Given the description of an element on the screen output the (x, y) to click on. 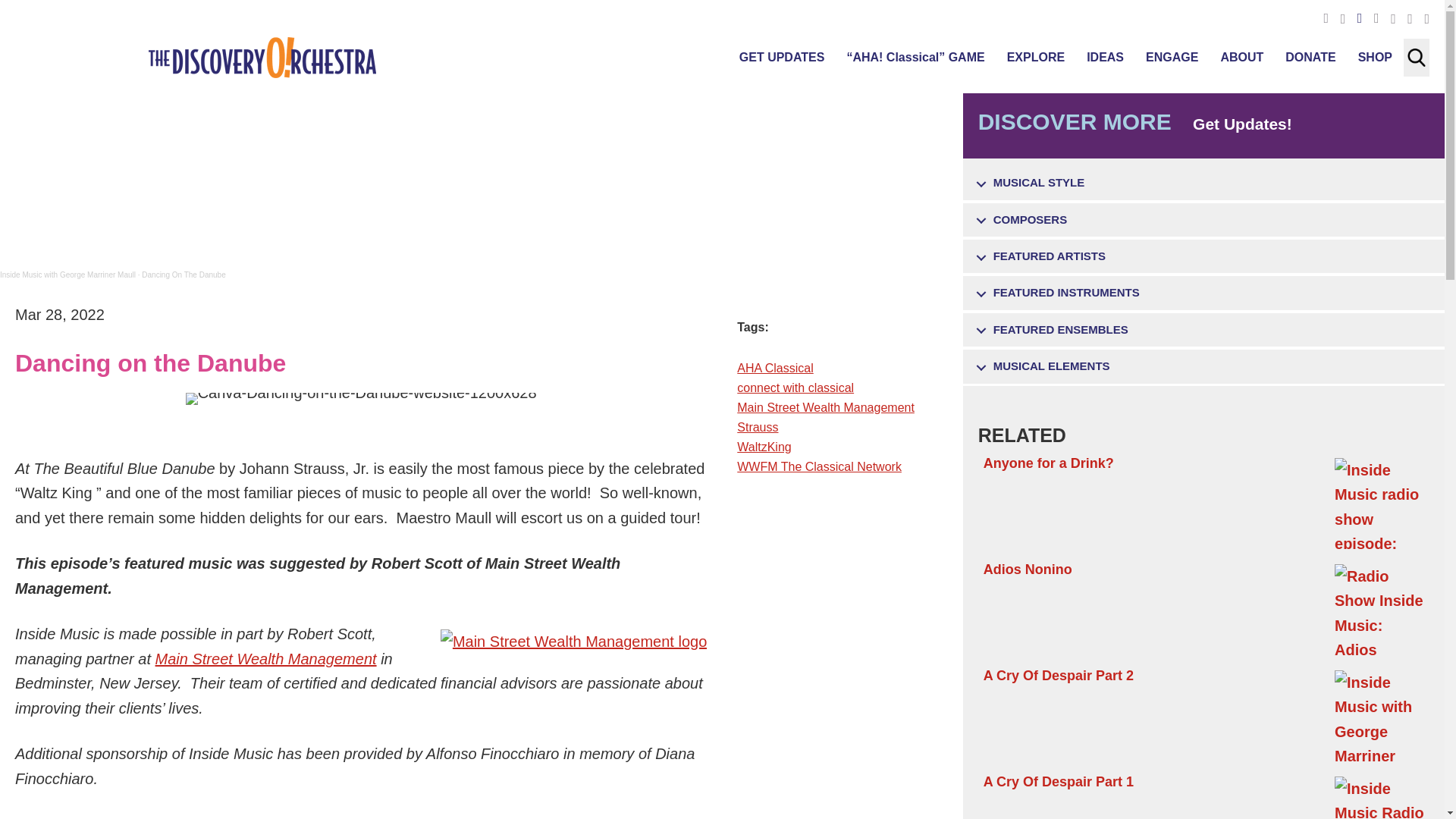
ABOUT (1241, 56)
ENGAGE (1171, 56)
Anyone for a Drink? (1203, 502)
Dancing On The Danube (183, 275)
Inside Music with George Marriner Maull (67, 275)
A Cry Of Despair Part 1 (1203, 795)
Adios Nonino (1203, 608)
Canva-Dancing-on-the-Danube-website-1200x628 (361, 398)
EXPLORE (1035, 56)
IDEAS (1104, 56)
